Given the description of an element on the screen output the (x, y) to click on. 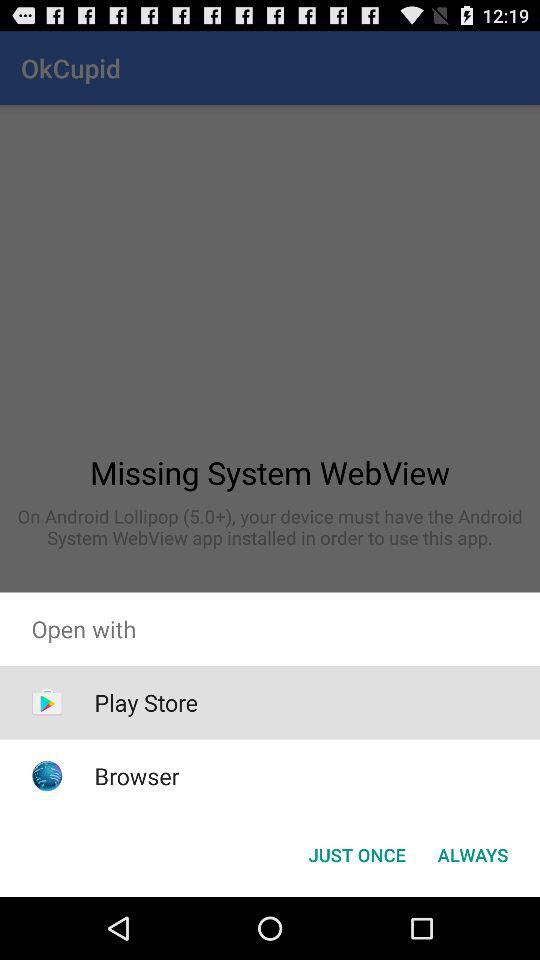
launch icon at the bottom right corner (472, 854)
